Given the description of an element on the screen output the (x, y) to click on. 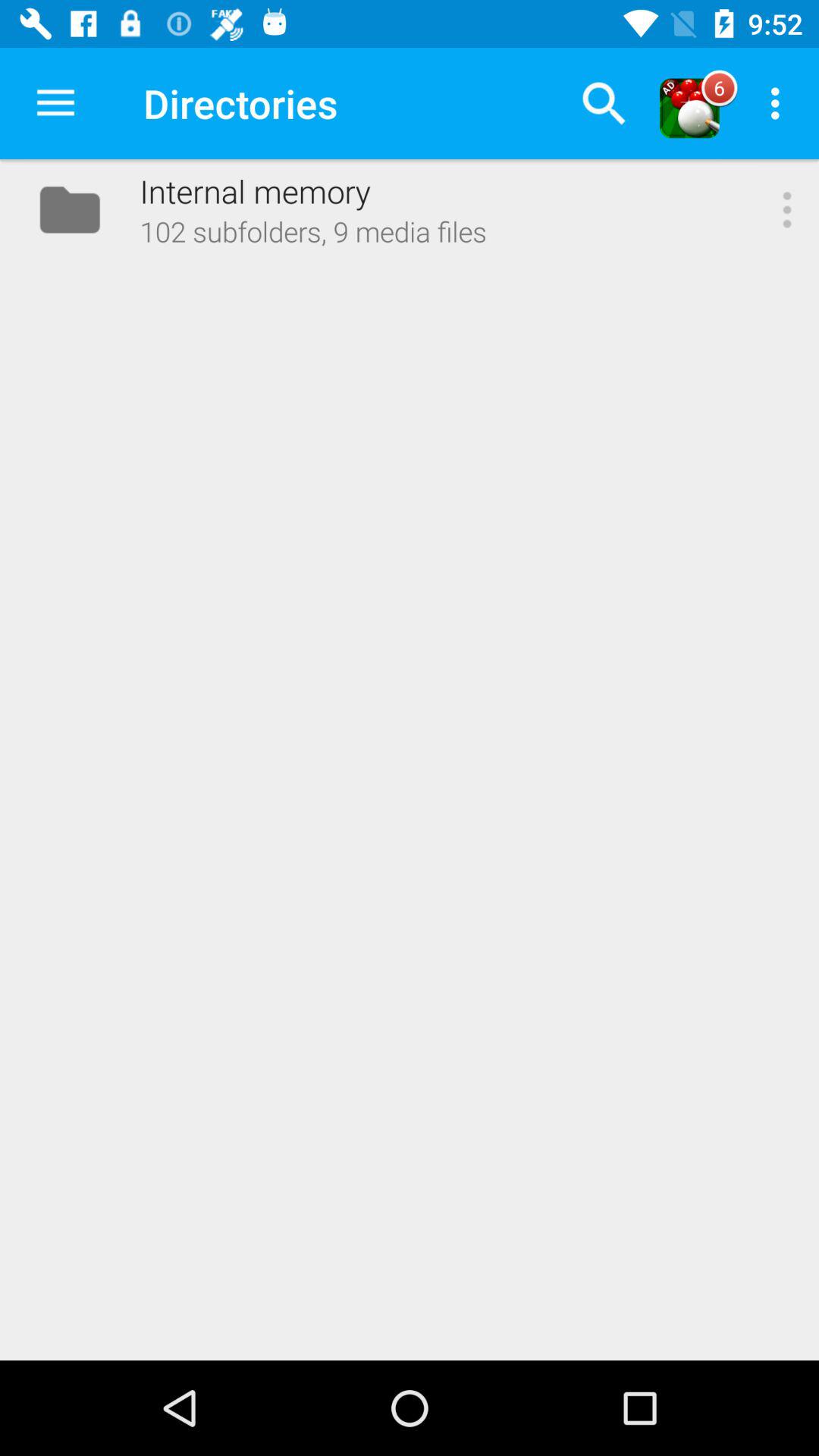
choose item next to internal memory (55, 103)
